Given the description of an element on the screen output the (x, y) to click on. 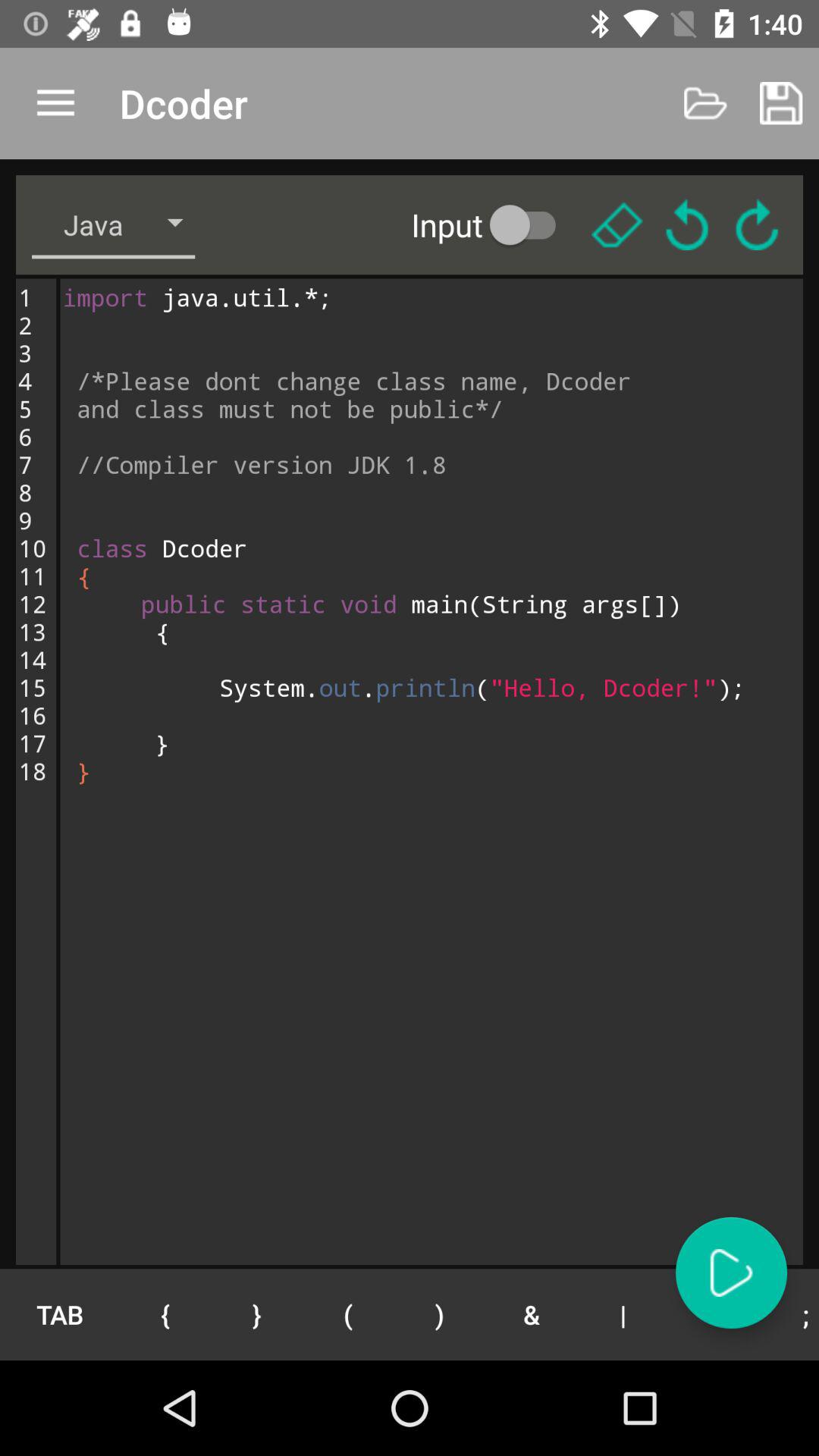
tap the item next to the ( button (439, 1314)
